Given the description of an element on the screen output the (x, y) to click on. 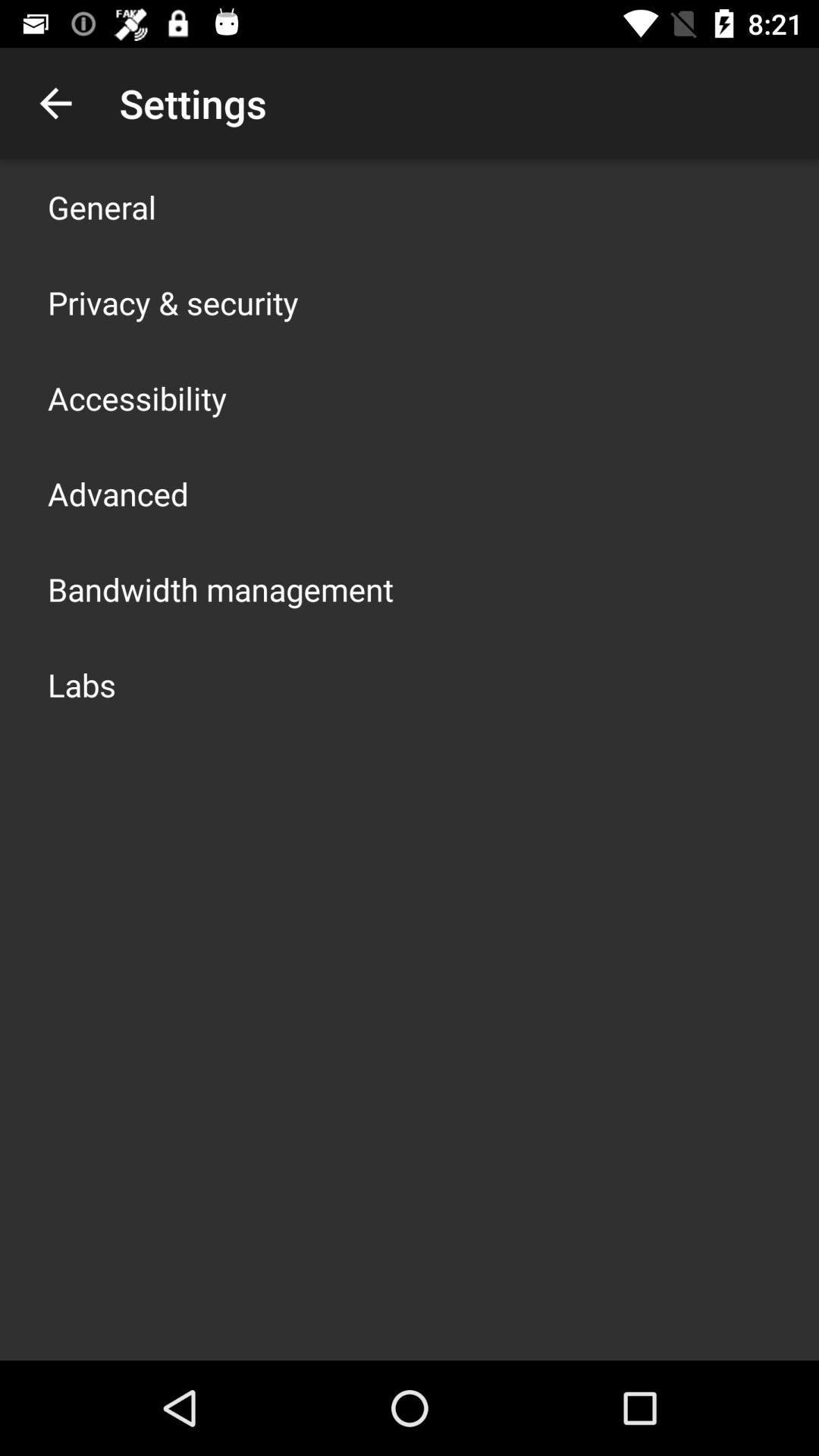
choose the advanced app (117, 493)
